Given the description of an element on the screen output the (x, y) to click on. 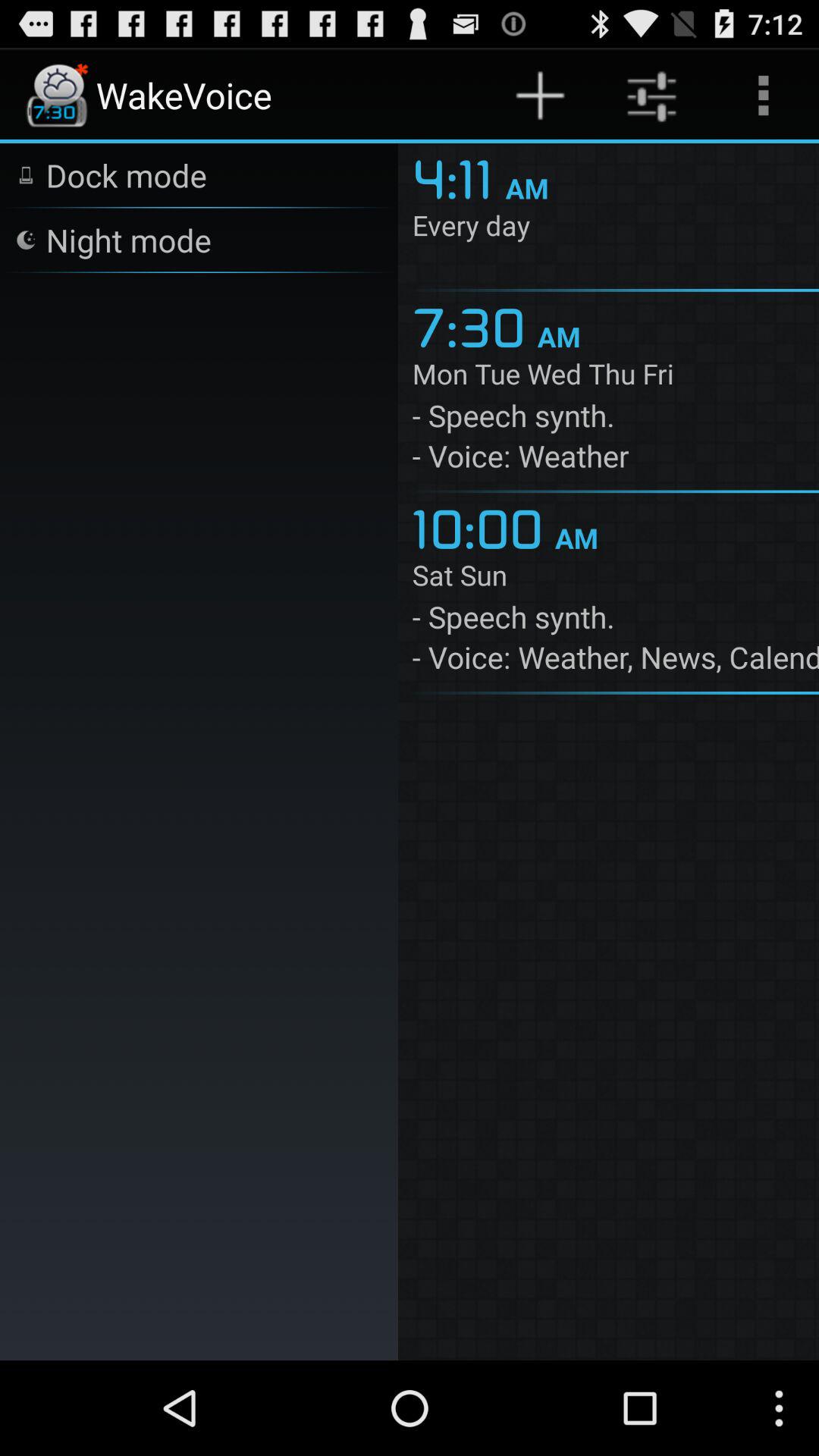
turn off the app to the left of 4:11 icon (126, 174)
